Given the description of an element on the screen output the (x, y) to click on. 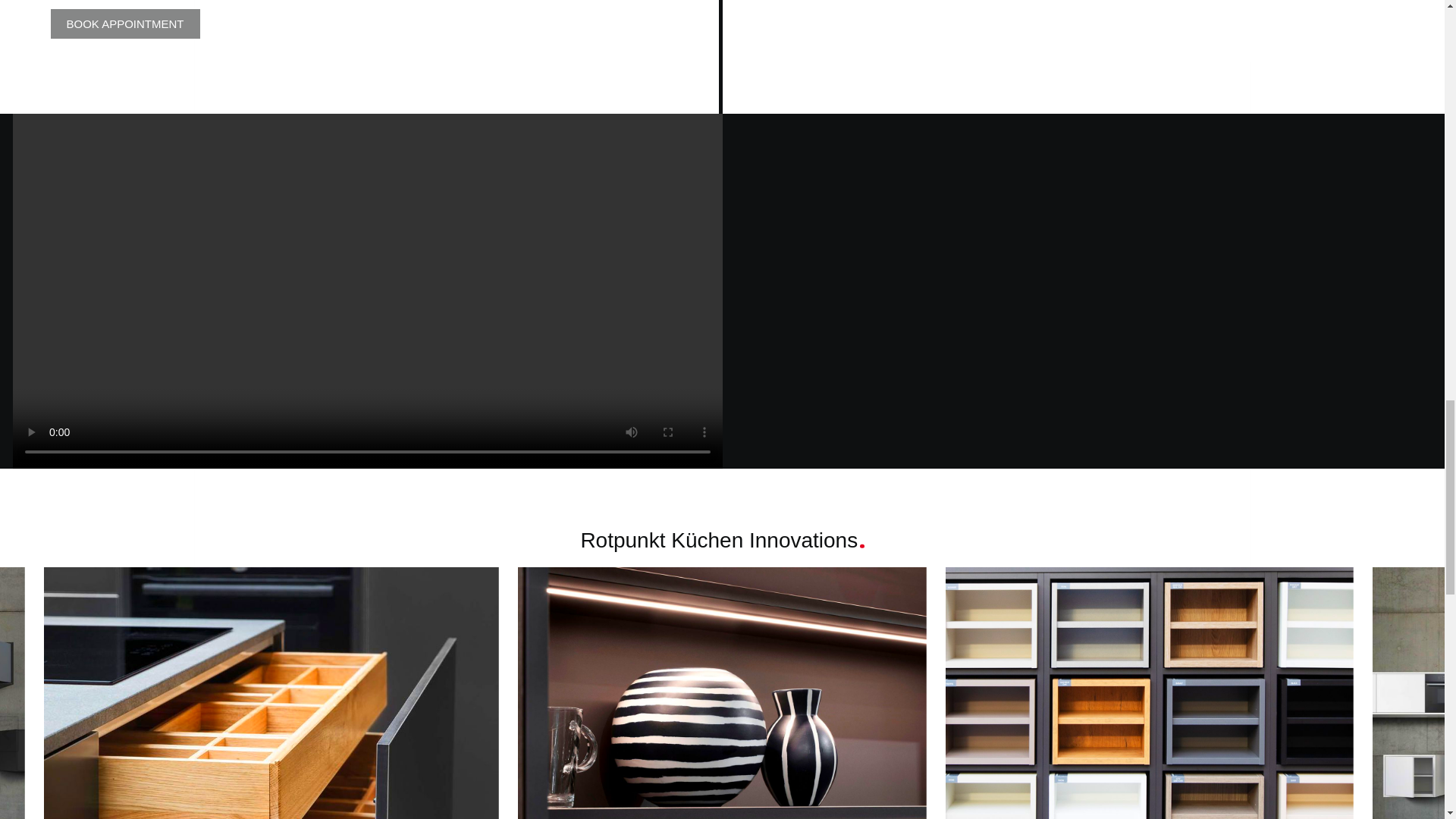
BOOK APPOINTMENT (124, 23)
